Given the description of an element on the screen output the (x, y) to click on. 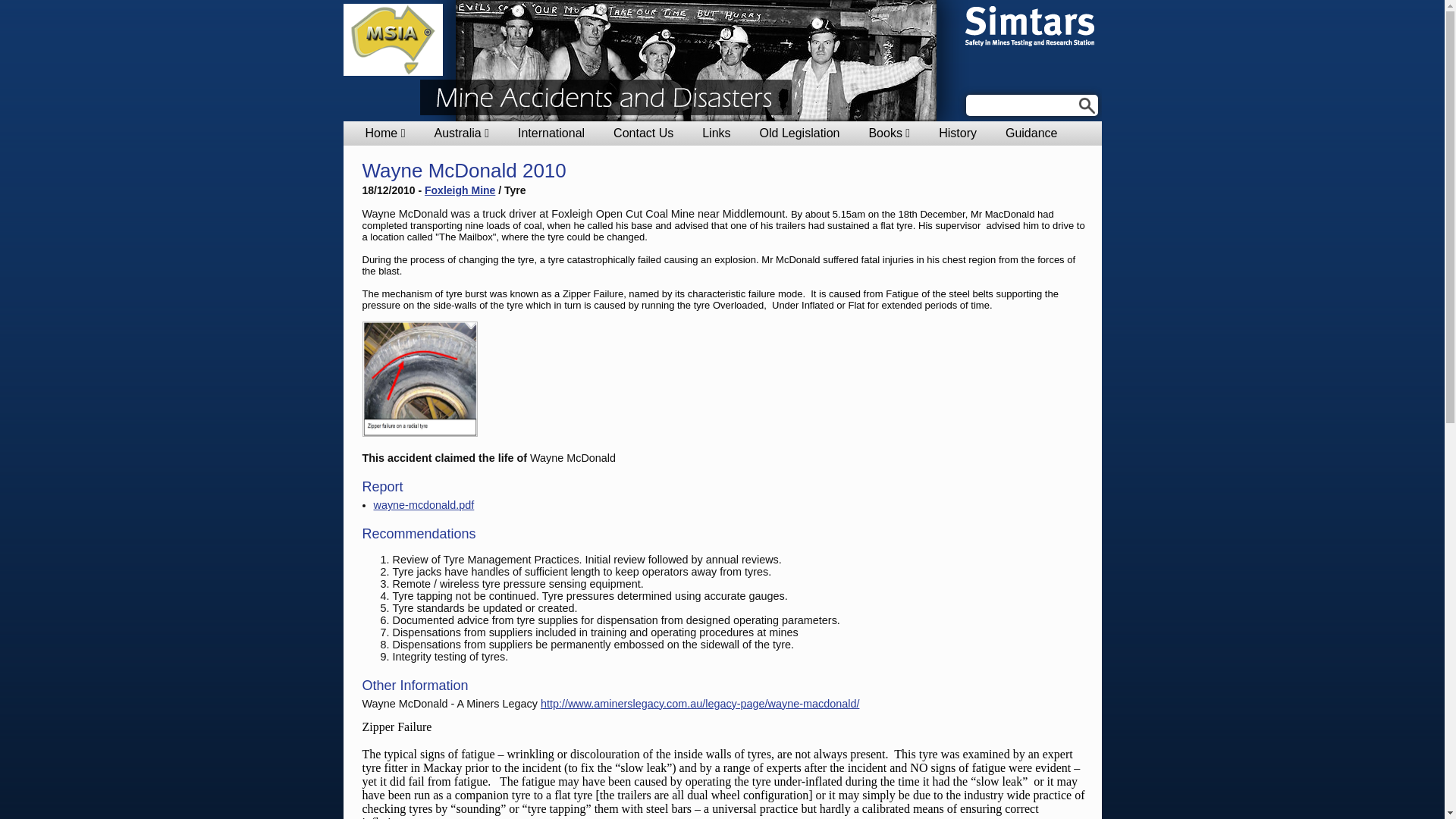
International Element type: text (550, 133)
Recommendations Element type: text (419, 533)
Report Element type: text (382, 486)
History Element type: text (957, 133)
Foxleigh Mine Element type: text (459, 190)
wayne-mcdonald.pdf Element type: text (423, 504)
Guidance Element type: text (1031, 133)
http://www.aminerslegacy.com.au/legacy-page/wayne-macdonald/ Element type: text (699, 703)
Other Information Element type: text (415, 685)
Contact Us Element type: text (643, 133)
Old Legislation Element type: text (799, 133)
Links Element type: text (716, 133)
